Given the description of an element on the screen output the (x, y) to click on. 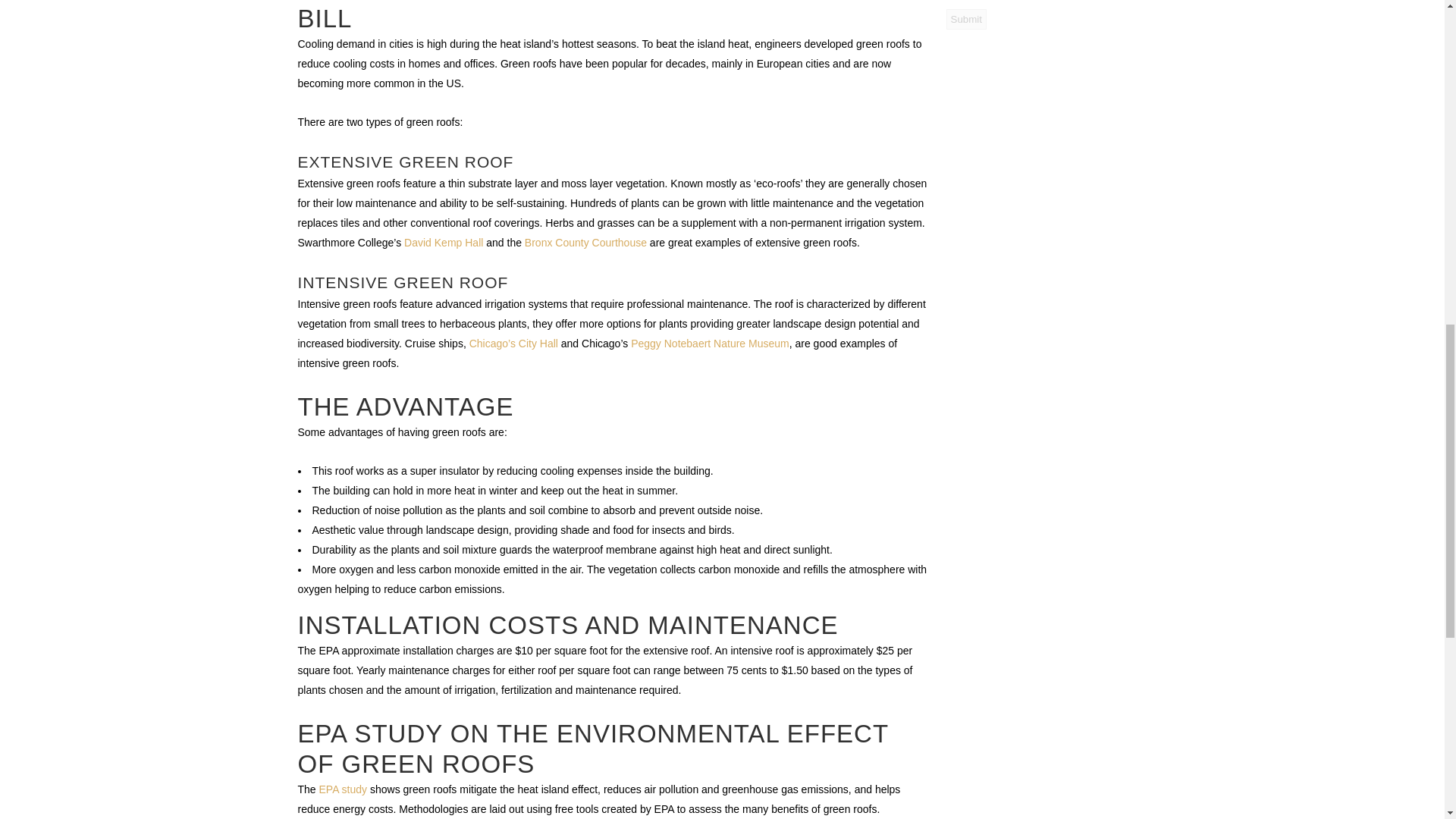
David Kemp Hall (443, 242)
Submit (966, 19)
Bronx County Courthouse (585, 242)
Peggy Notebaert Nature Museum (709, 343)
